Given the description of an element on the screen output the (x, y) to click on. 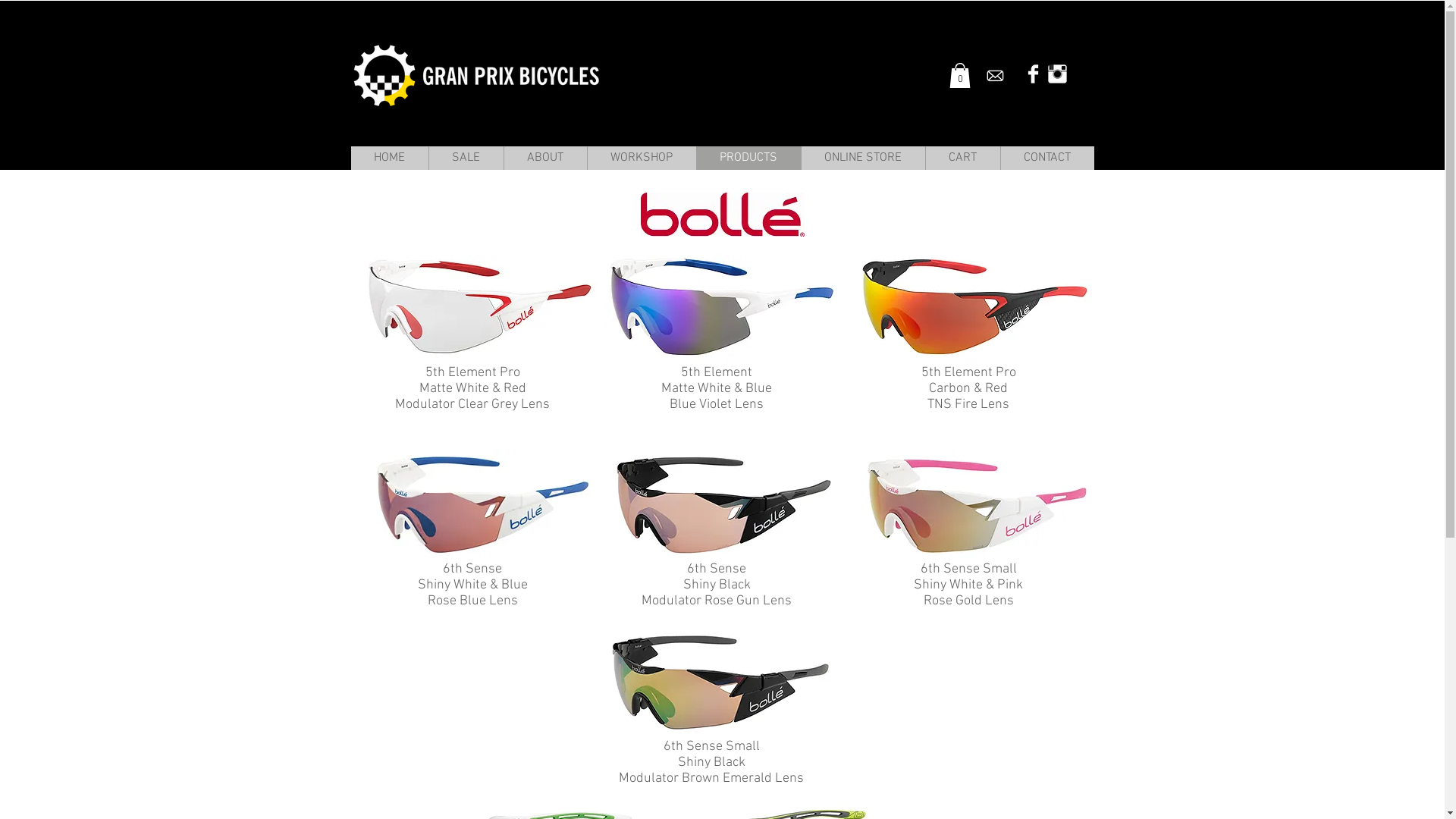
Gran Prix Bicycles Element type: hover (475, 76)
PRODUCTS Element type: text (748, 157)
Envelope_new.png Element type: hover (994, 75)
ABOUT Element type: text (544, 157)
0 Element type: text (959, 74)
CART Element type: text (962, 157)
CONTACT Element type: text (1046, 157)
ONLINE STORE Element type: text (862, 157)
WORKSHOP Element type: text (641, 157)
HOME Element type: text (388, 157)
SALE Element type: text (464, 157)
